Given the description of an element on the screen output the (x, y) to click on. 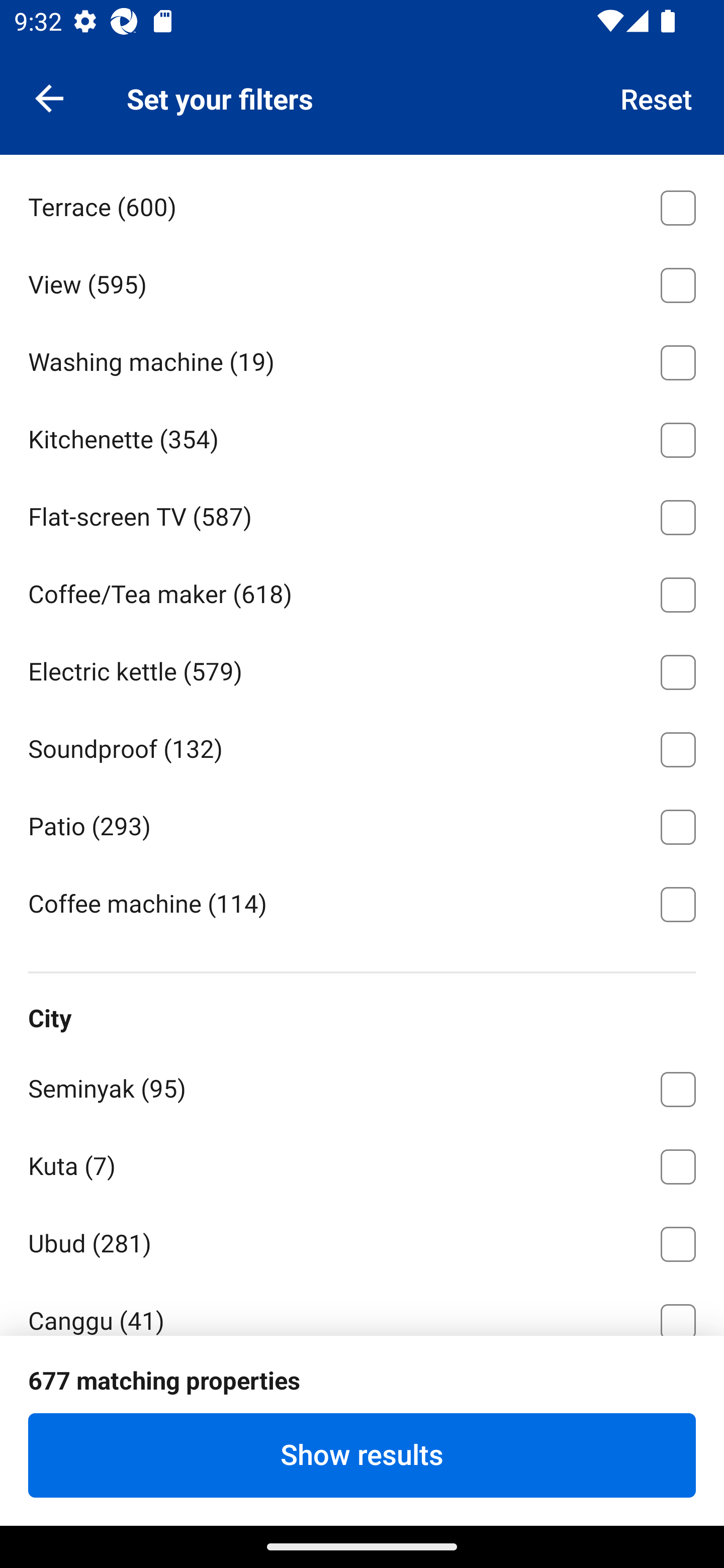
Navigate up (49, 97)
Reset (656, 97)
Terrace ⁦(600) (361, 204)
View ⁦(595) (361, 281)
Washing machine ⁦(19) (361, 358)
Kitchenette ⁦(354) (361, 436)
Flat-screen TV ⁦(587) (361, 514)
Coffee/Tea maker ⁦(618) (361, 591)
Electric kettle ⁦(579) (361, 668)
Soundproof ⁦(132) (361, 746)
Patio ⁦(293) (361, 823)
Coffee machine ⁦(114) (361, 902)
Seminyak ⁦(95) (361, 1085)
Kuta ⁦(7) (361, 1163)
Ubud ⁦(281) (361, 1240)
Canggu ⁦(41) (361, 1307)
Nusa Dua ⁦(26) (361, 1398)
Show results (361, 1454)
